Given the description of an element on the screen output the (x, y) to click on. 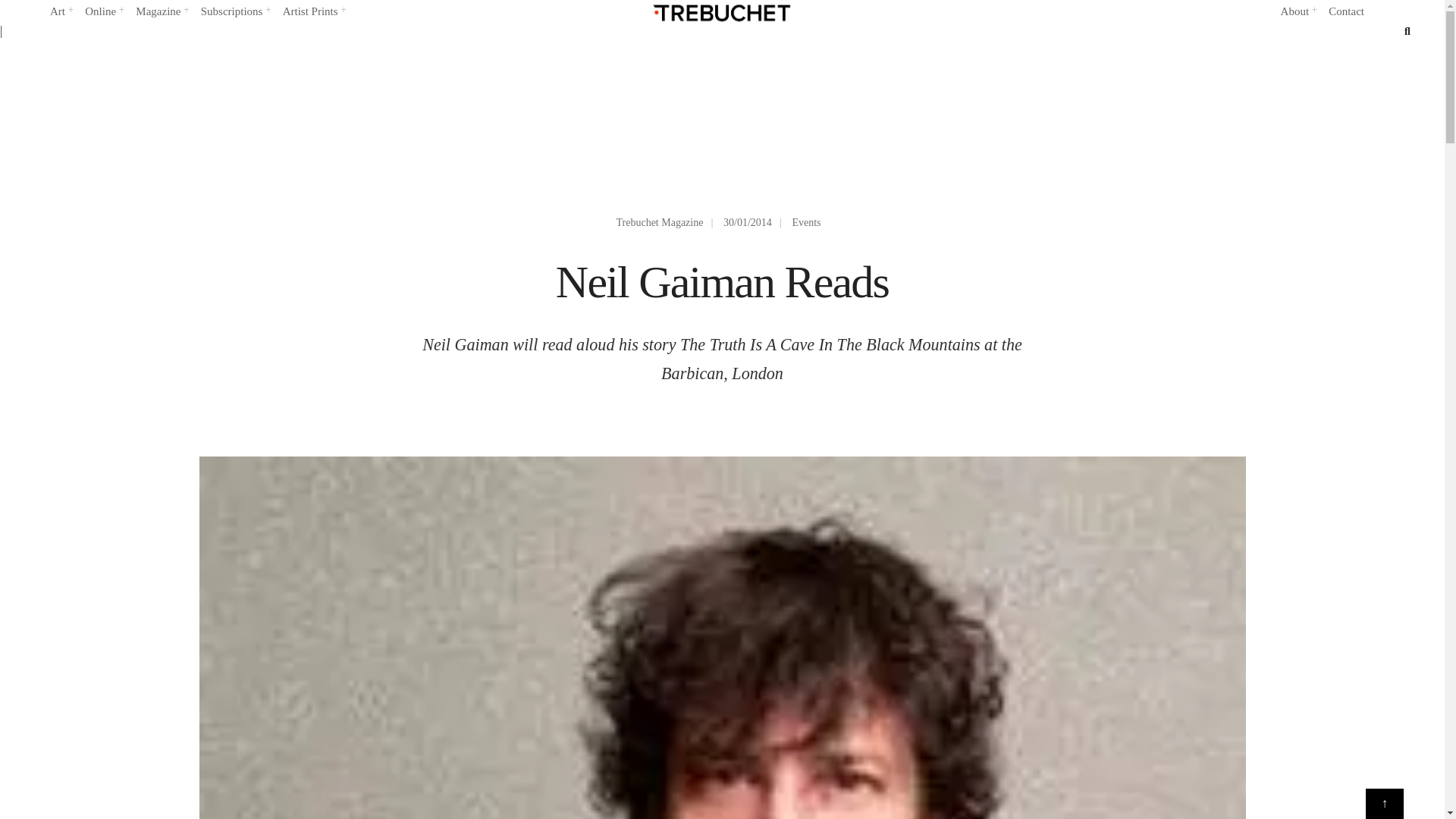
Artist Prints (314, 11)
Magazine (161, 11)
Subscriptions (235, 11)
Posts by Trebuchet Magazine (659, 222)
Art (61, 11)
Art (61, 11)
Online (104, 11)
